Given the description of an element on the screen output the (x, y) to click on. 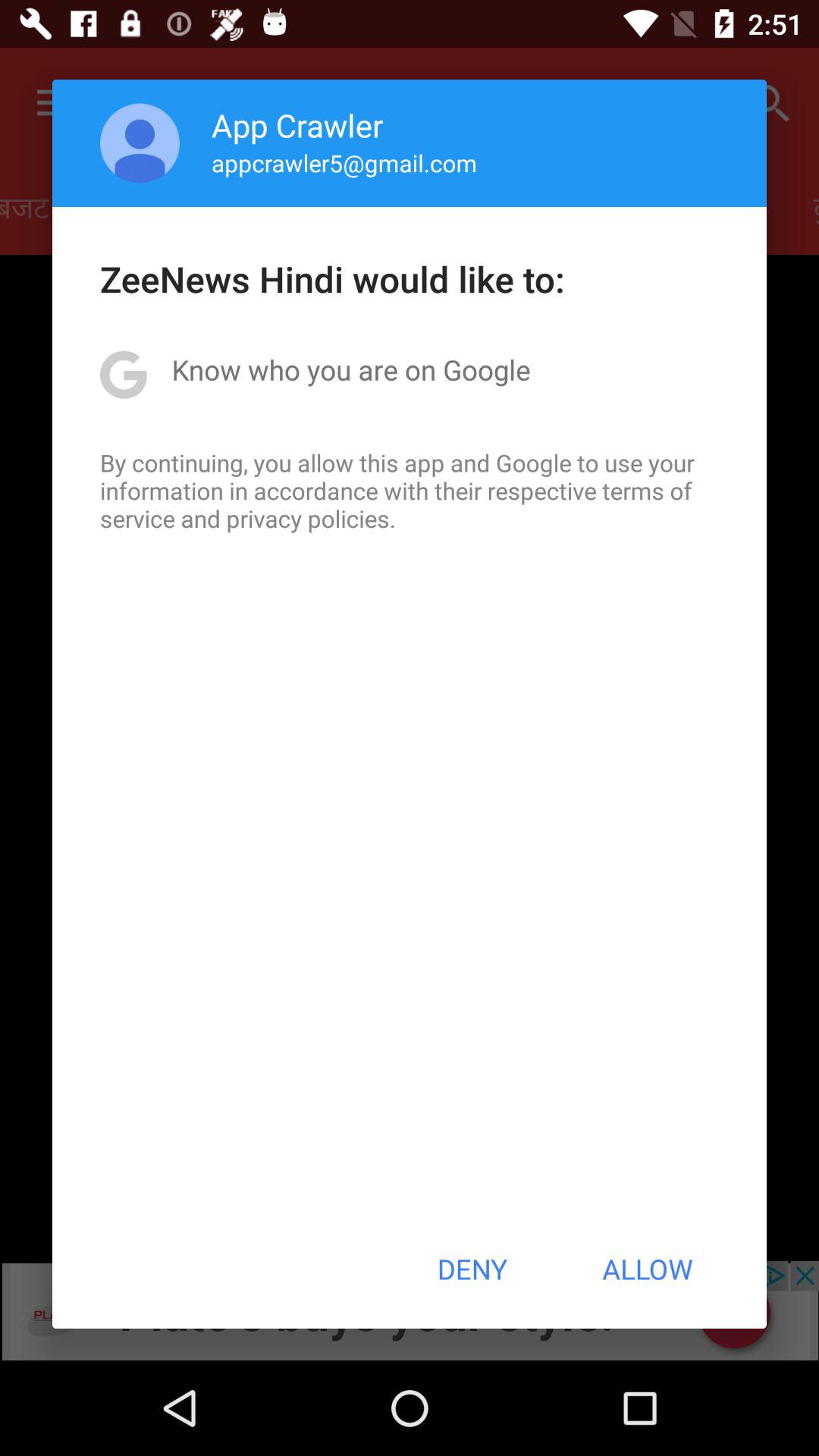
tap the item below the zeenews hindi would app (350, 369)
